Given the description of an element on the screen output the (x, y) to click on. 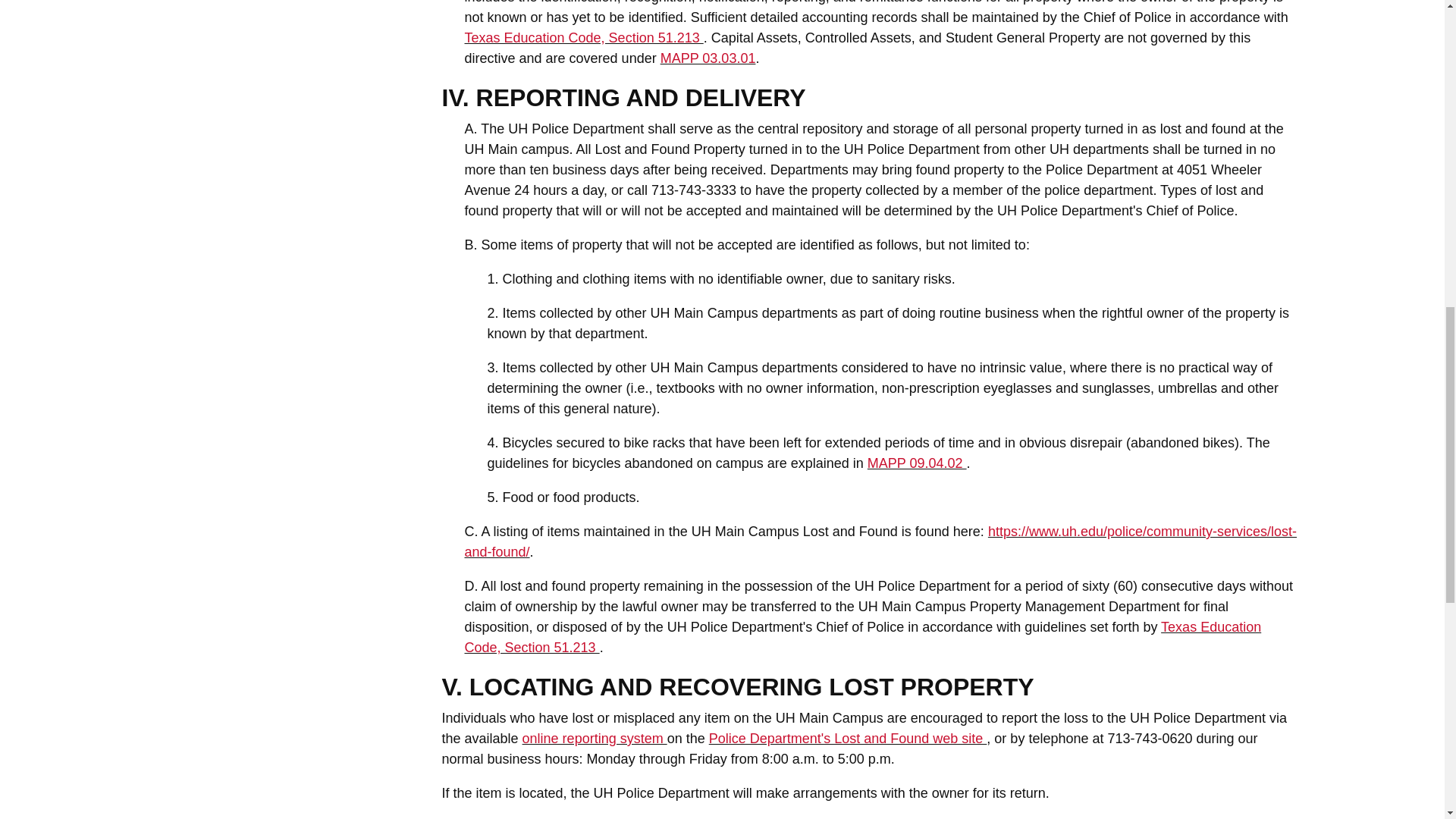
MAPP 09.04.02 (916, 462)
MAPP 03.03.01 (708, 58)
Texas Education Code, Section 51.213 (583, 37)
